Given the description of an element on the screen output the (x, y) to click on. 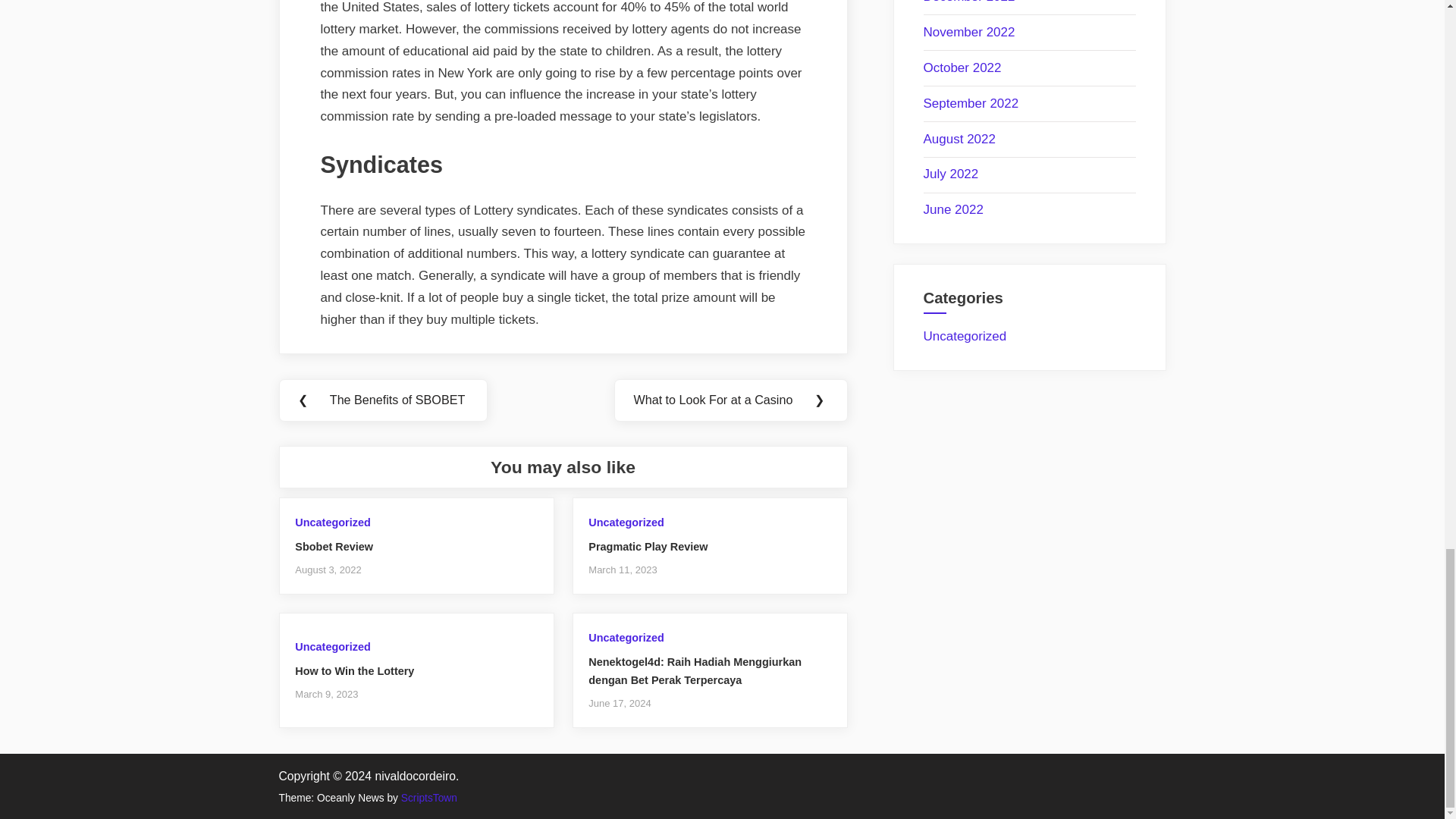
Uncategorized (332, 522)
Sbobet Review (333, 546)
How to Win the Lottery (354, 671)
Uncategorized (625, 637)
Uncategorized (332, 646)
Pragmatic Play Review (647, 546)
Uncategorized (625, 522)
